Given the description of an element on the screen output the (x, y) to click on. 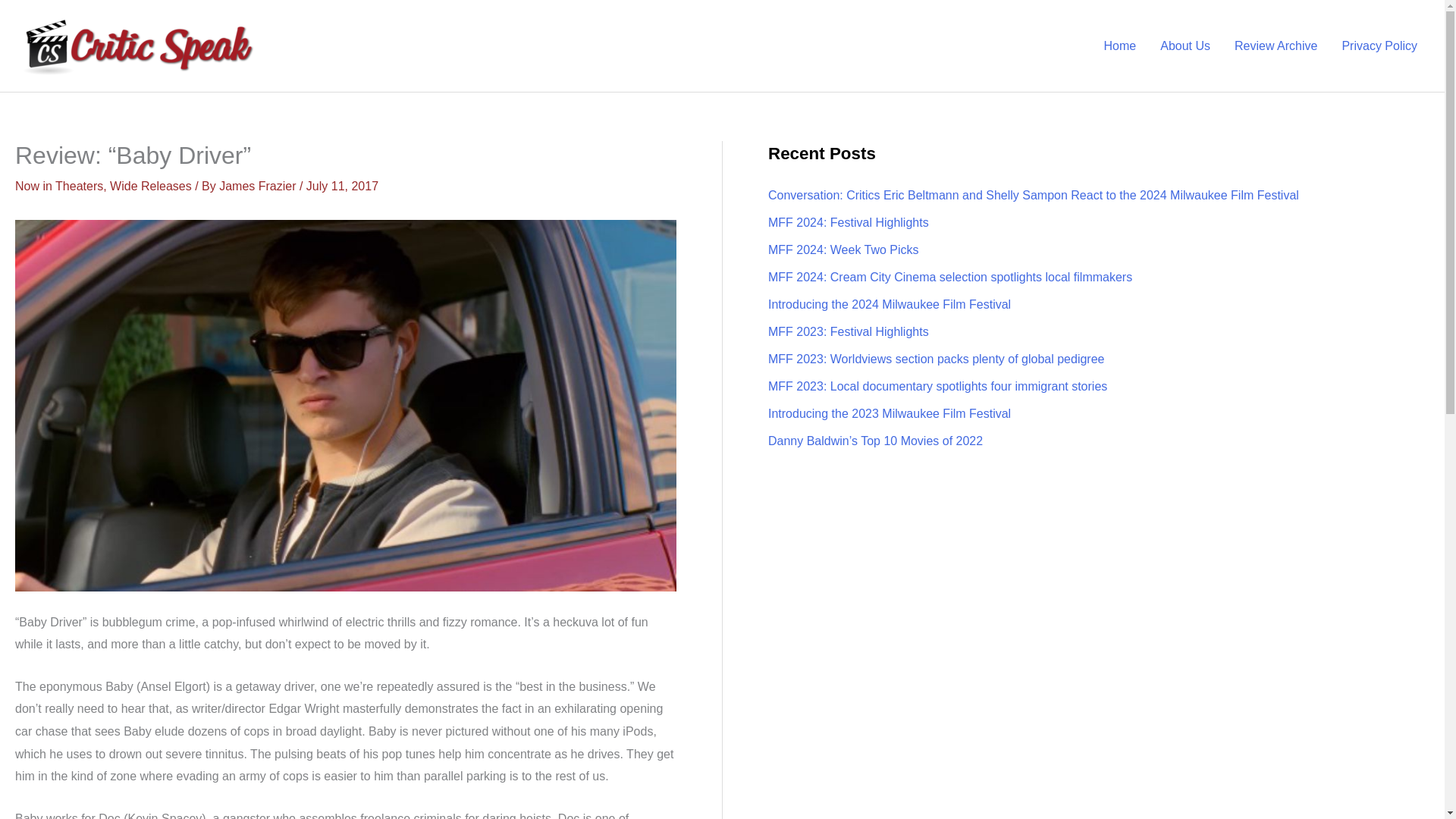
View all posts by James Frazier (259, 185)
MFF 2023: Festival Highlights (848, 331)
Introducing the 2023 Milwaukee Film Festival (889, 413)
MFF 2023: Worldviews section packs plenty of global pedigree (935, 358)
About Us (1185, 46)
Introducing the 2024 Milwaukee Film Festival (889, 304)
James Frazier (259, 185)
MFF 2024: Festival Highlights (848, 222)
Now in Theaters (58, 185)
Wide Releases (151, 185)
Privacy Policy (1379, 46)
Home (1120, 46)
MFF 2024: Week Two Picks (843, 249)
